Given the description of an element on the screen output the (x, y) to click on. 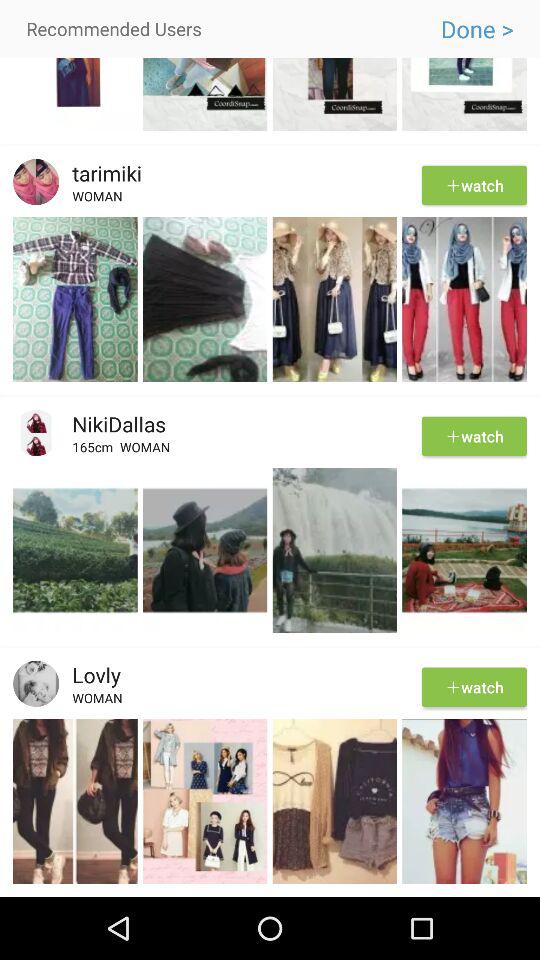
open icon to the right of recommended users item (476, 29)
